Given the description of an element on the screen output the (x, y) to click on. 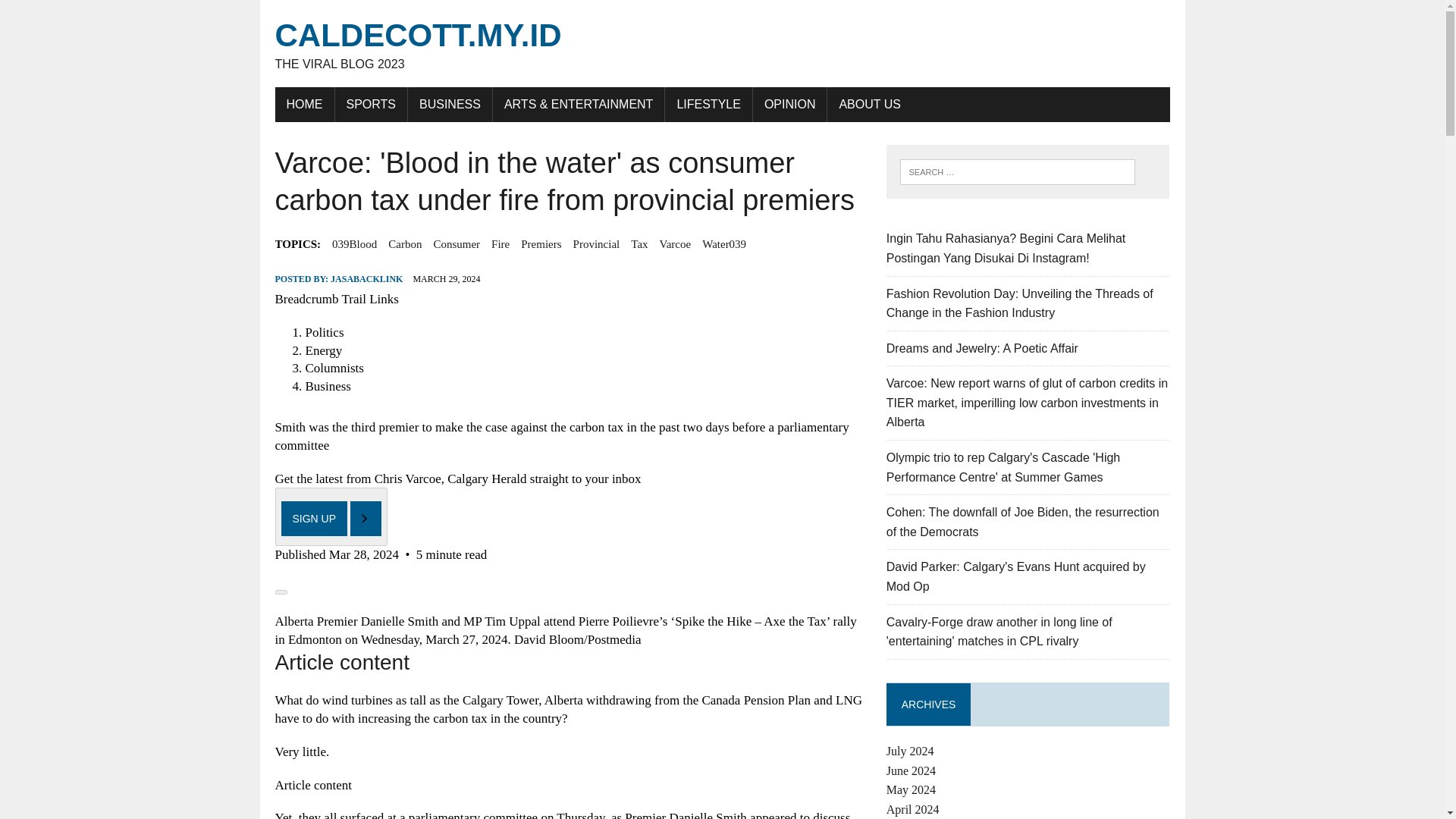
Dreams and Jewelry: A Poetic Affair (982, 348)
Fire (500, 244)
Premiers (540, 244)
Carbon (405, 244)
Consumer (456, 244)
Tax (638, 244)
LIFESTYLE (708, 104)
HOME (304, 104)
Varcoe (675, 244)
BUSINESS (449, 104)
ABOUT US (869, 104)
039Blood (354, 244)
JASABACKLINK (366, 278)
